Given the description of an element on the screen output the (x, y) to click on. 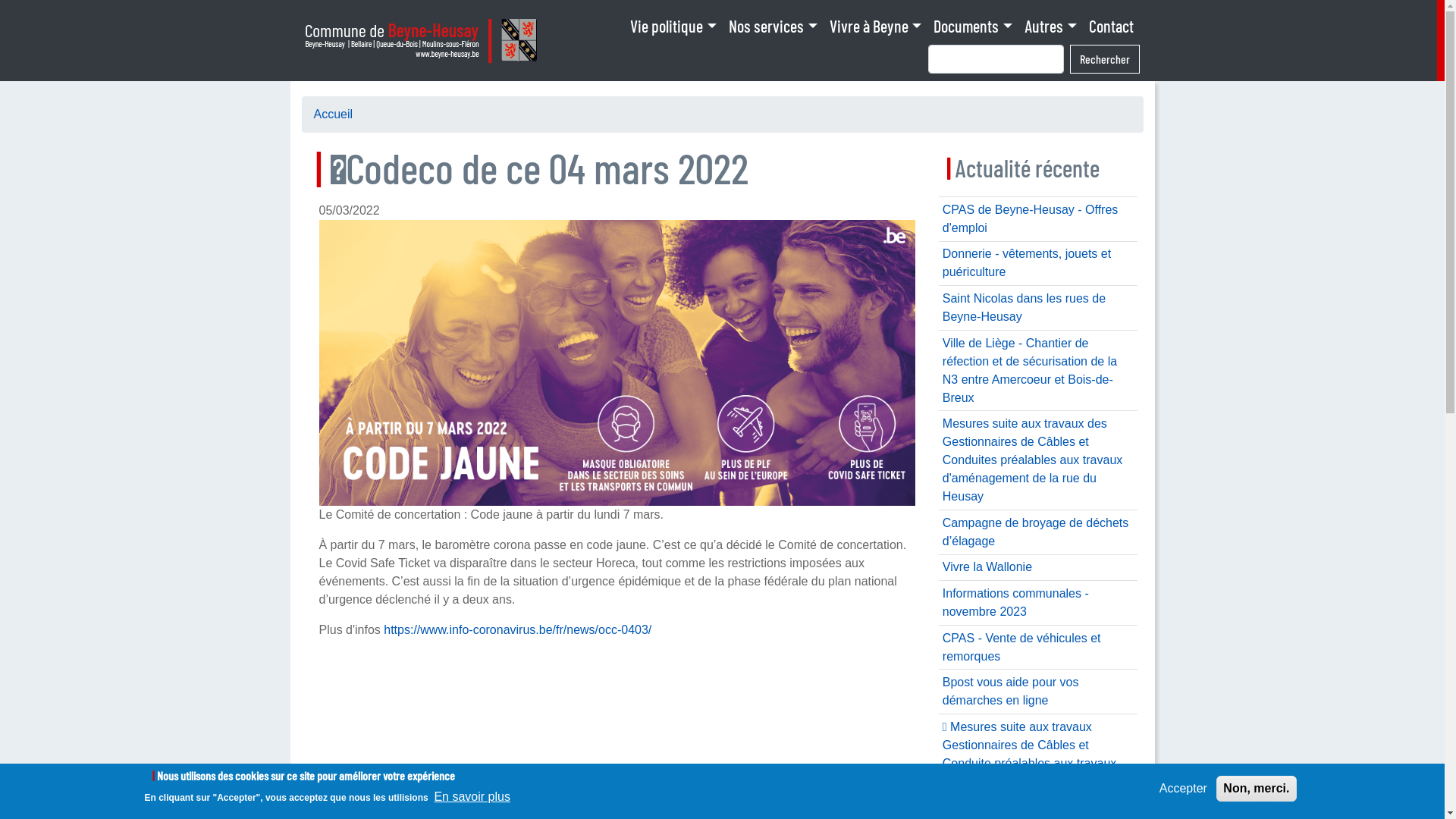
Contact Element type: text (1110, 25)
Accueil Element type: hover (424, 40)
Saint Nicolas dans les rues de Beyne-Heusay Element type: text (1023, 307)
https://www.info-coronavirus.be/fr/news/occ-0403/ Element type: text (517, 629)
Accepter Element type: text (1183, 788)
Autres Element type: text (1050, 25)
Vie politique Element type: text (673, 25)
Aller au contenu principal Element type: text (0, 0)
Rechercher Element type: text (1104, 58)
CPAS de Beyne-Heusay - Offres d'emploi Element type: text (1030, 218)
Nos services Element type: text (772, 25)
Accueil Element type: text (333, 113)
Informations communales - novembre 2023 Element type: text (1015, 602)
Documents Element type: text (972, 25)
En savoir plus Element type: text (471, 796)
Non, merci. Element type: text (1255, 788)
Vivre la Wallonie Element type: text (987, 566)
